Given the description of an element on the screen output the (x, y) to click on. 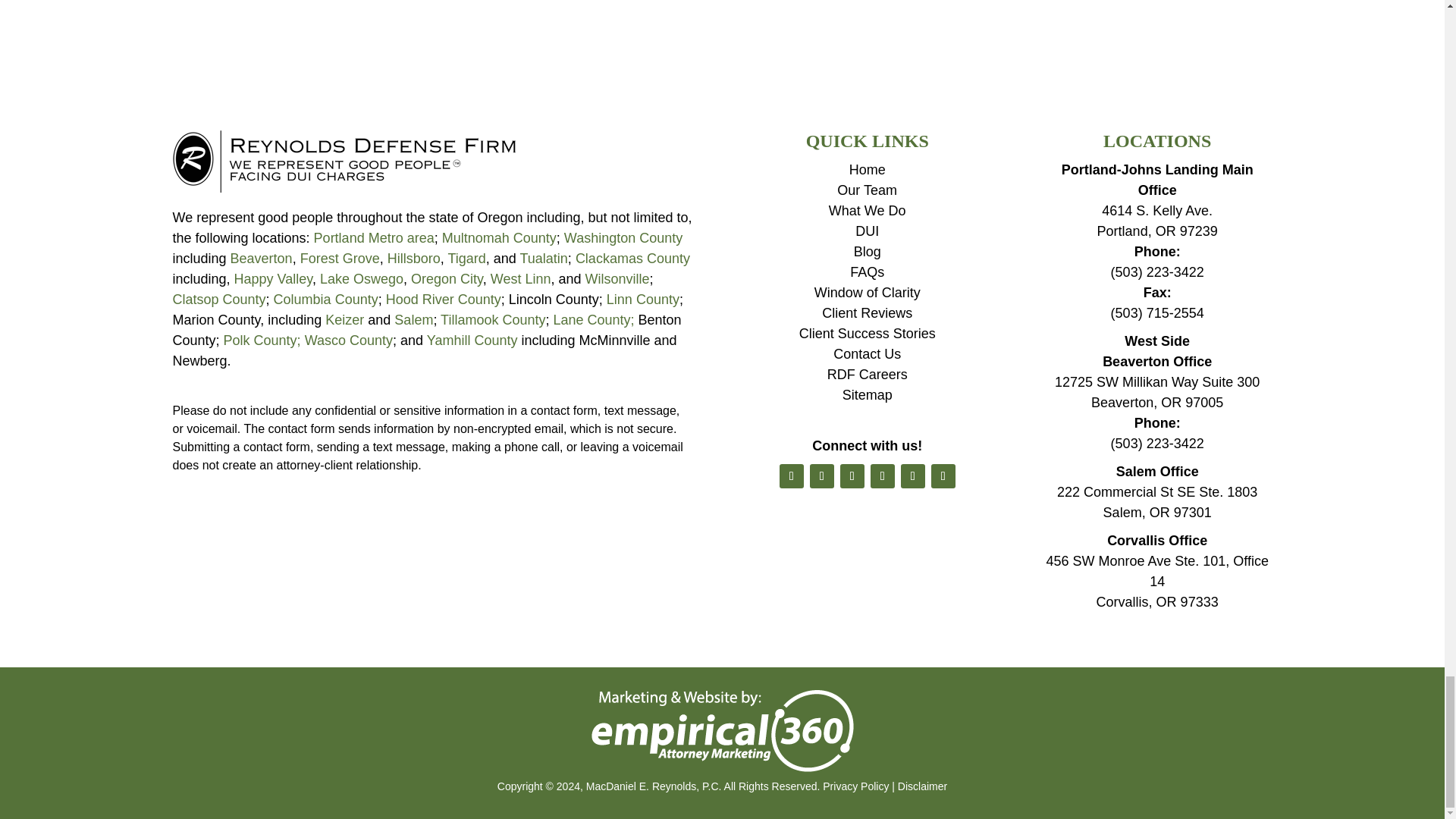
Follow on LinkedIn (852, 476)
Follow on X (821, 476)
Follow on Instagram (912, 476)
justia-reynoldsdefensefirm-com (344, 161)
Follow on Facebook (790, 476)
Follow on Youtube (882, 476)
